Given the description of an element on the screen output the (x, y) to click on. 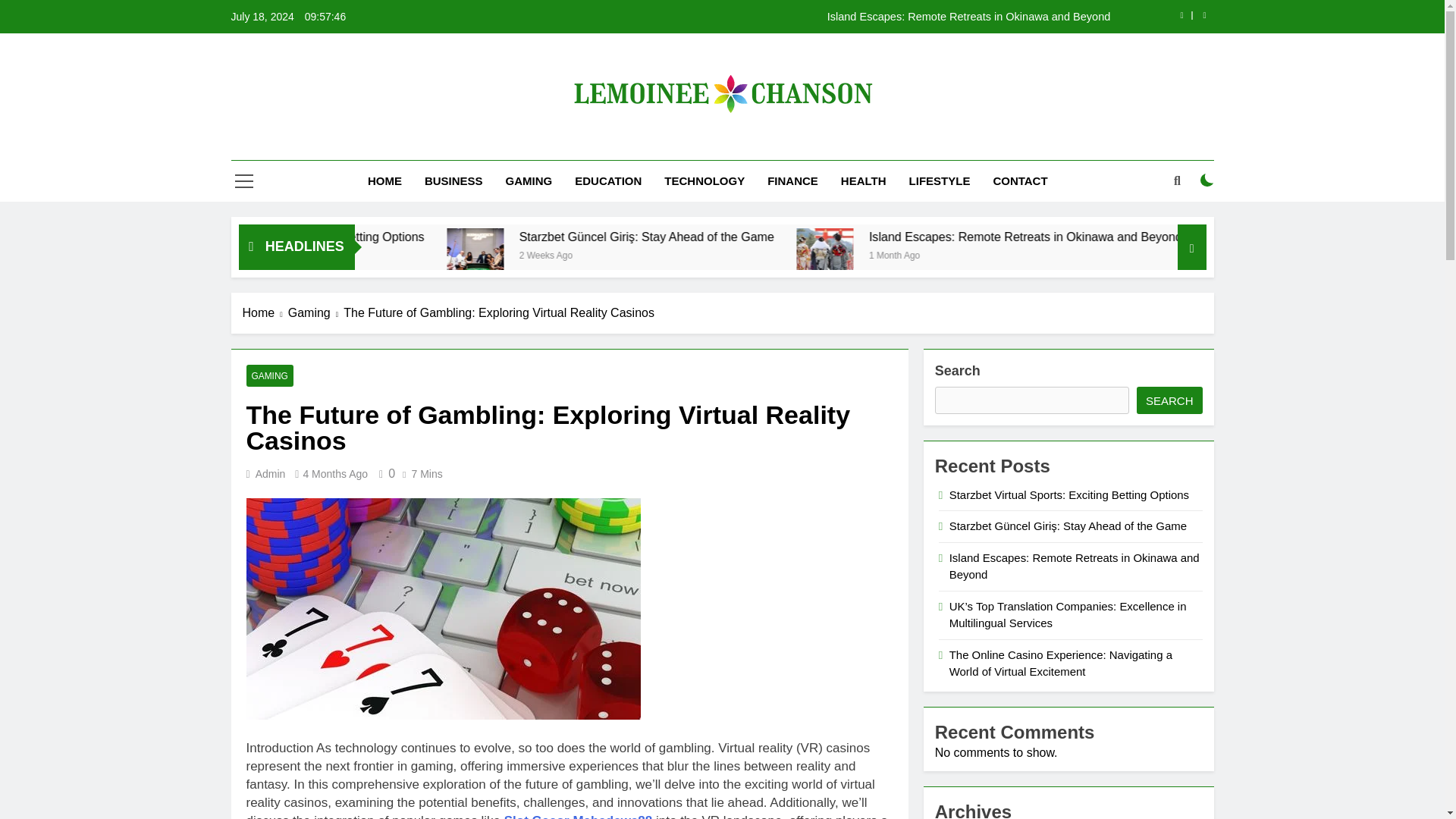
HOME (384, 180)
Lemoinee Chanson (620, 146)
HEALTH (863, 180)
Island Escapes: Remote Retreats in Okinawa and Beyond (817, 16)
CONTACT (1019, 180)
TECHNOLOGY (703, 180)
GAMING (529, 180)
EDUCATION (607, 180)
LIFESTYLE (939, 180)
2 Weeks Ago (740, 254)
2 Weeks Ago (398, 254)
Starzbet Virtual Sports: Exciting Betting Options (501, 237)
on (1206, 180)
Island Escapes: Remote Retreats in Okinawa and Beyond (970, 256)
1 Month Ago (1077, 254)
